Given the description of an element on the screen output the (x, y) to click on. 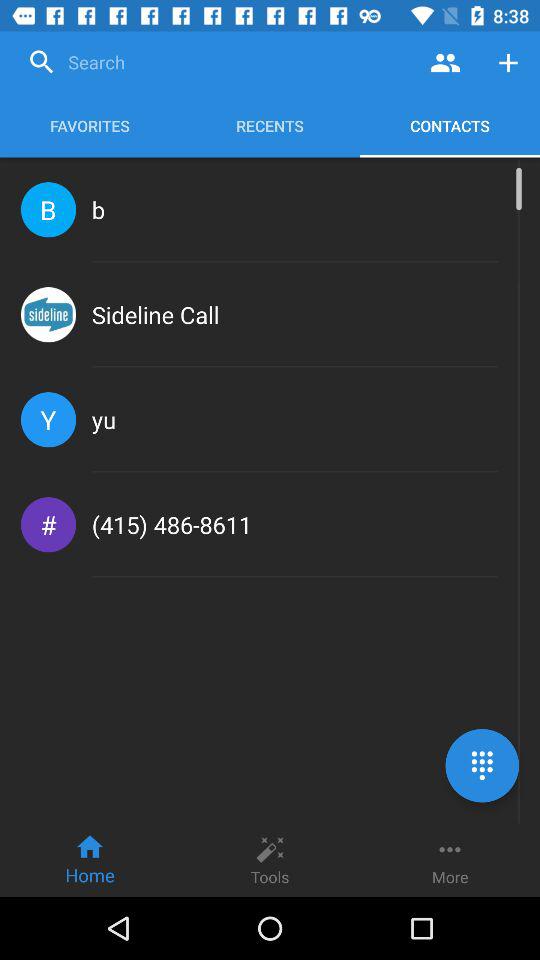
create contact (508, 62)
